Given the description of an element on the screen output the (x, y) to click on. 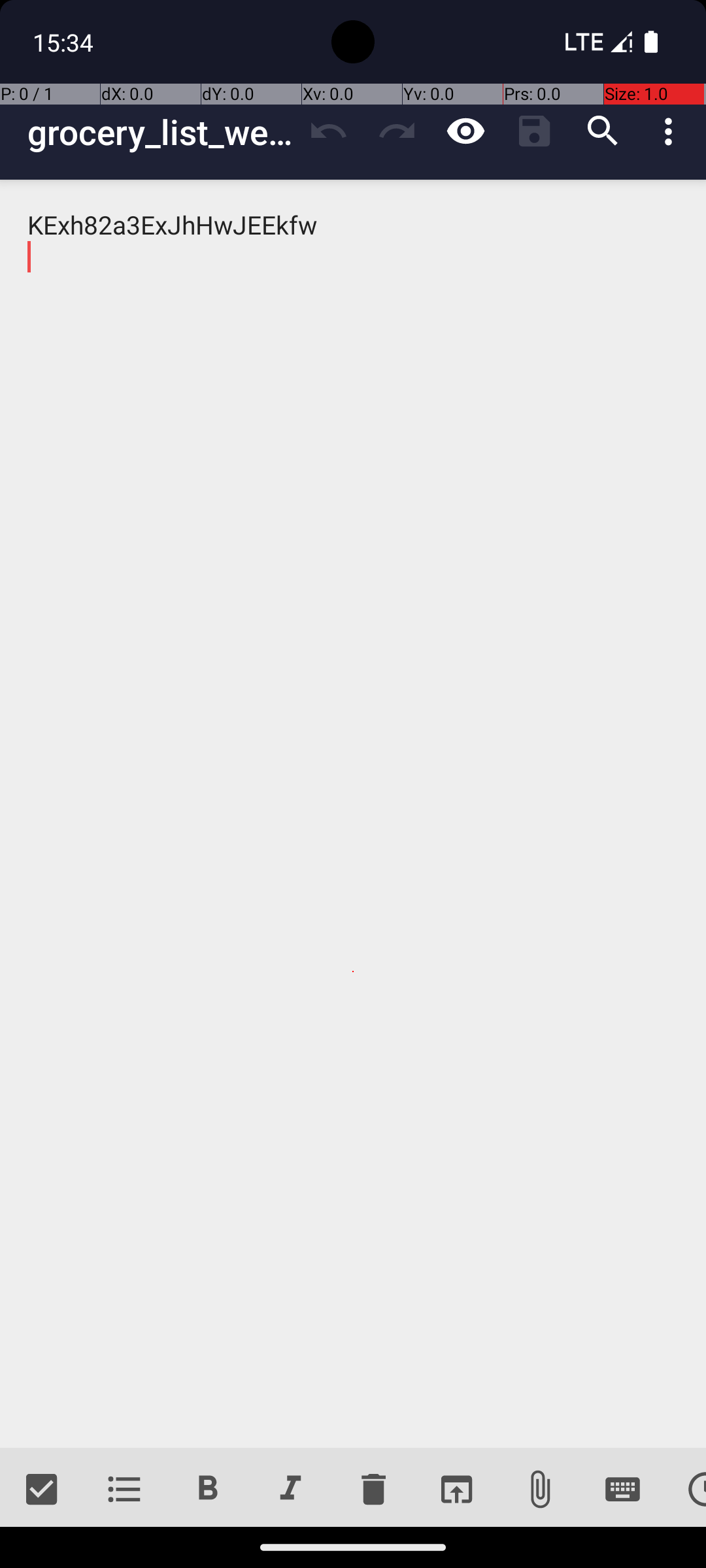
grocery_list_weekly_XyAc Element type: android.widget.TextView (160, 131)
Undo Element type: android.widget.TextView (328, 131)
Redo Element type: android.widget.TextView (396, 131)
View mode Element type: android.widget.TextView (465, 131)
KExh82a3ExJhHwJEEkfw
 Element type: android.widget.EditText (353, 813)
Check list Element type: android.widget.ImageView (41, 1488)
Unordered list Element type: android.widget.ImageView (124, 1488)
Bold Element type: android.widget.ImageView (207, 1488)
Italic Element type: android.widget.ImageView (290, 1488)
Delete lines Element type: android.widget.ImageView (373, 1488)
Open link Element type: android.widget.ImageView (456, 1488)
Attach Element type: android.widget.ImageView (539, 1488)
Special Key Element type: android.widget.ImageView (622, 1488)
Date and time Element type: android.widget.ImageView (685, 1488)
